Given the description of an element on the screen output the (x, y) to click on. 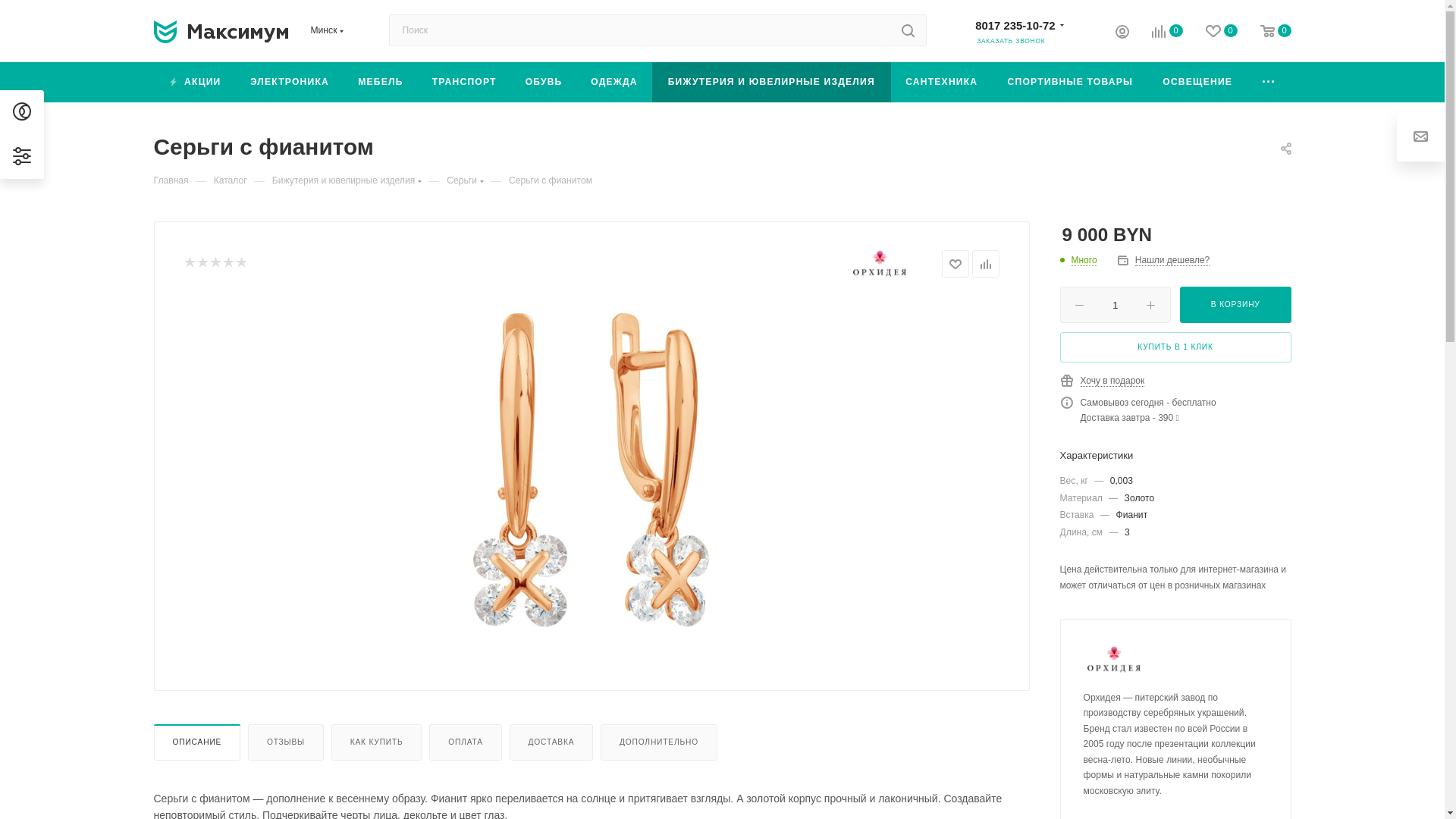
8017 235-10-72 Element type: text (1014, 24)
0 Element type: text (1264, 32)
0 Element type: text (1210, 32)
0 Element type: text (1155, 32)
